Given the description of an element on the screen output the (x, y) to click on. 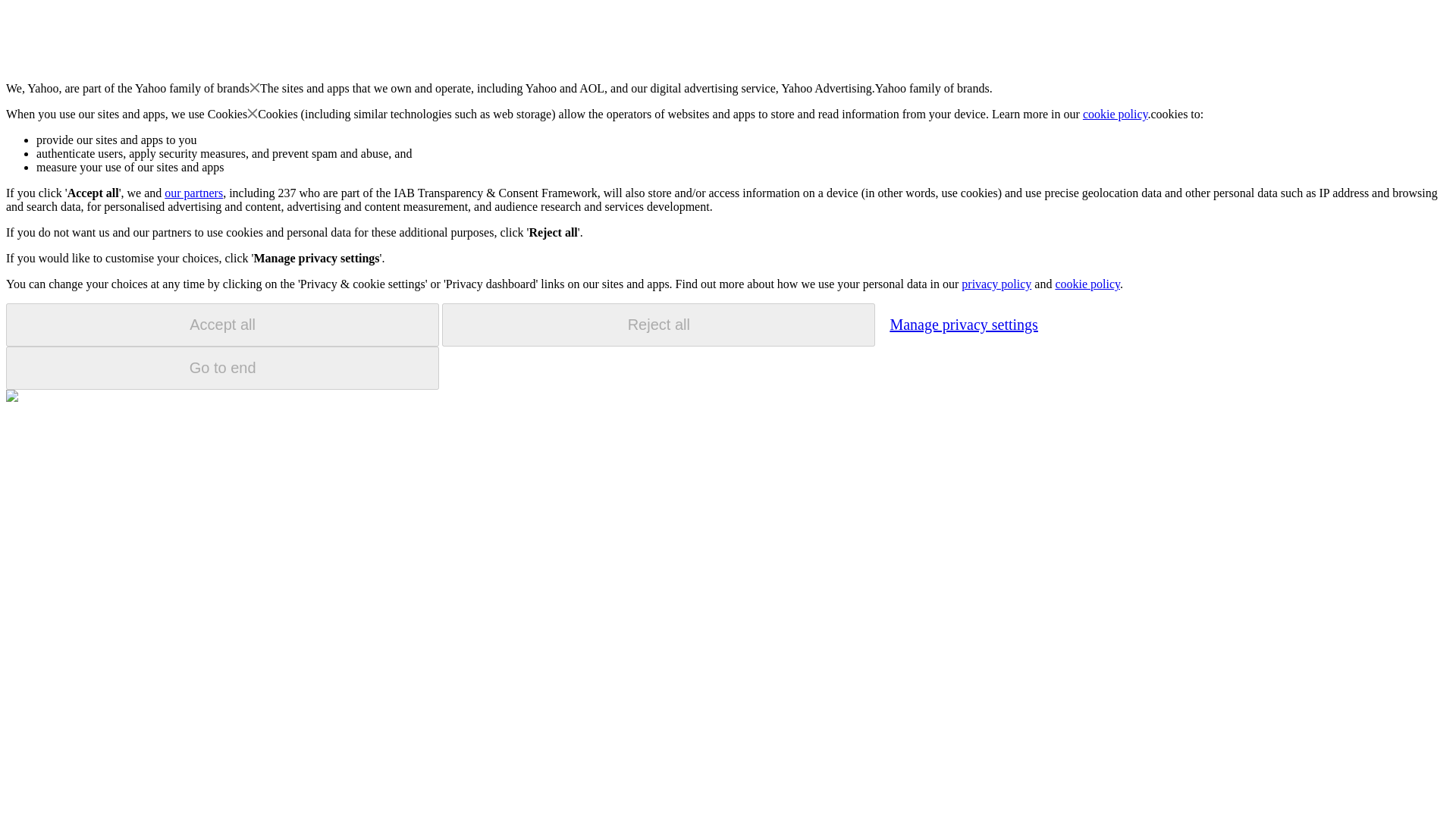
privacy policy (995, 283)
Go to end (222, 367)
Manage privacy settings (963, 323)
Accept all (222, 324)
Reject all (658, 324)
cookie policy (1086, 283)
cookie policy (1115, 113)
our partners (193, 192)
